Given the description of an element on the screen output the (x, y) to click on. 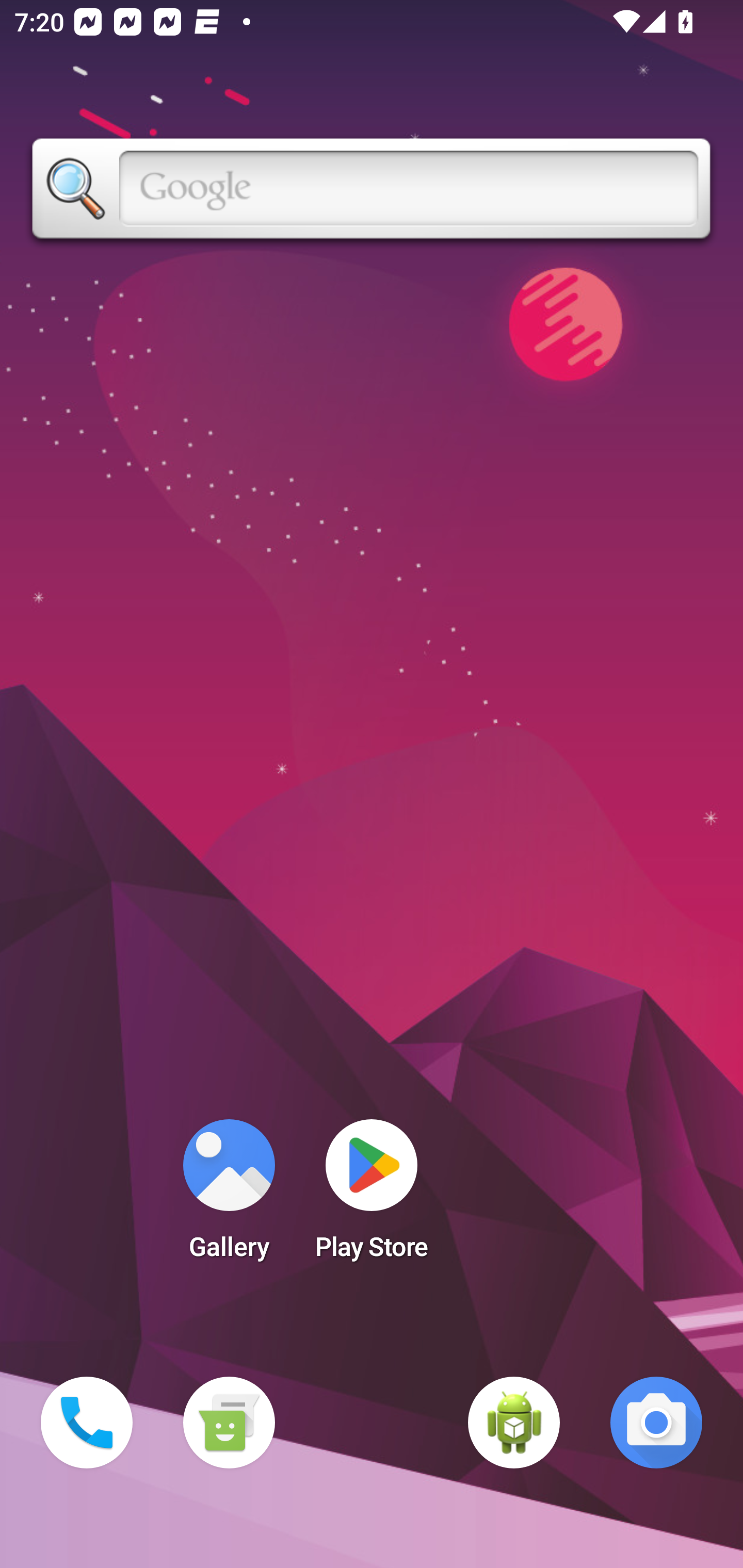
Gallery (228, 1195)
Play Store (371, 1195)
Phone (86, 1422)
Messaging (228, 1422)
WebView Browser Tester (513, 1422)
Camera (656, 1422)
